Given the description of an element on the screen output the (x, y) to click on. 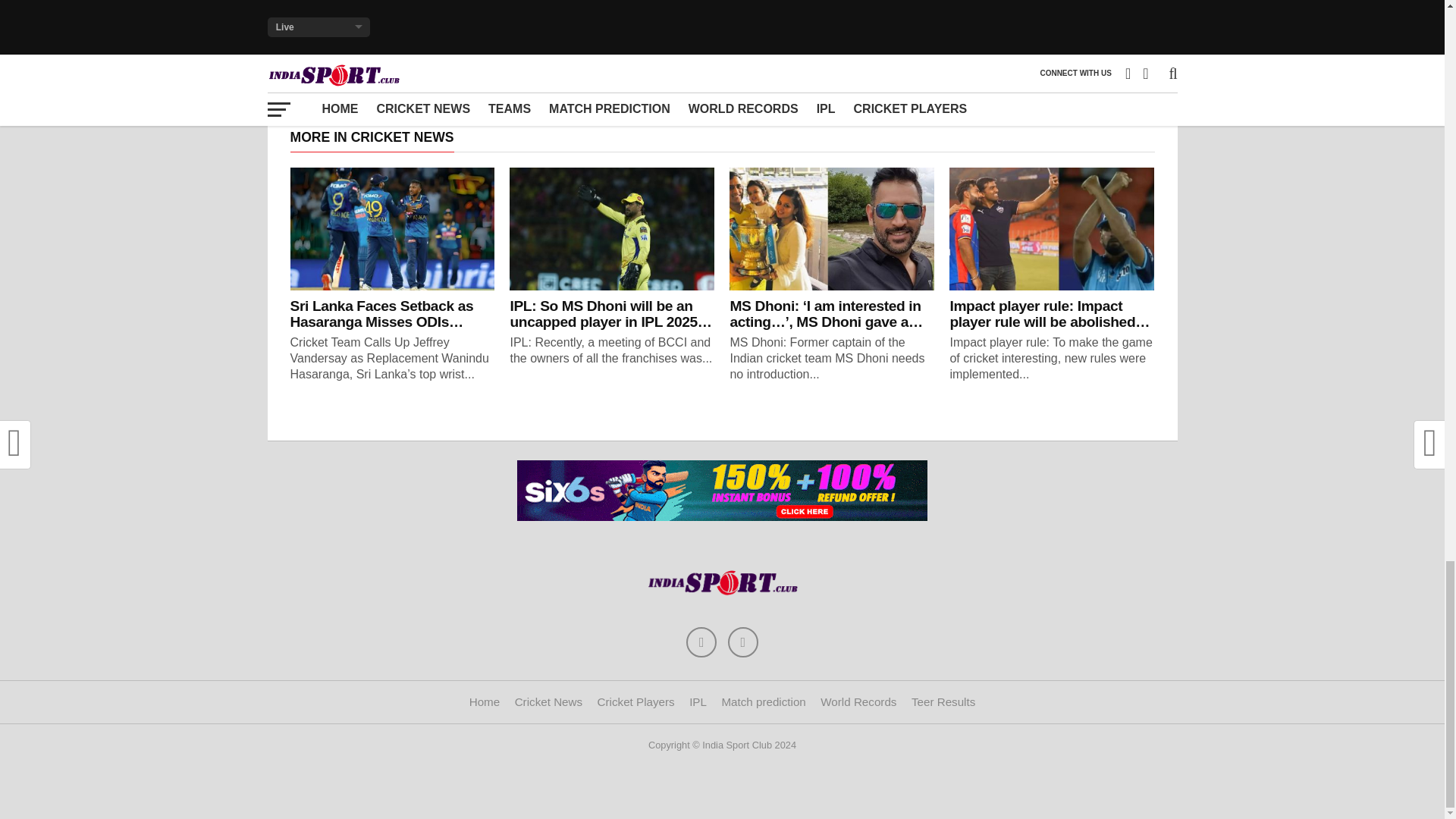
KAGISO RABADA (799, 5)
ALZARRI JOSEPH (497, 5)
BRANDON KING (698, 5)
ANRICH NORTJE (601, 5)
